Given the description of an element on the screen output the (x, y) to click on. 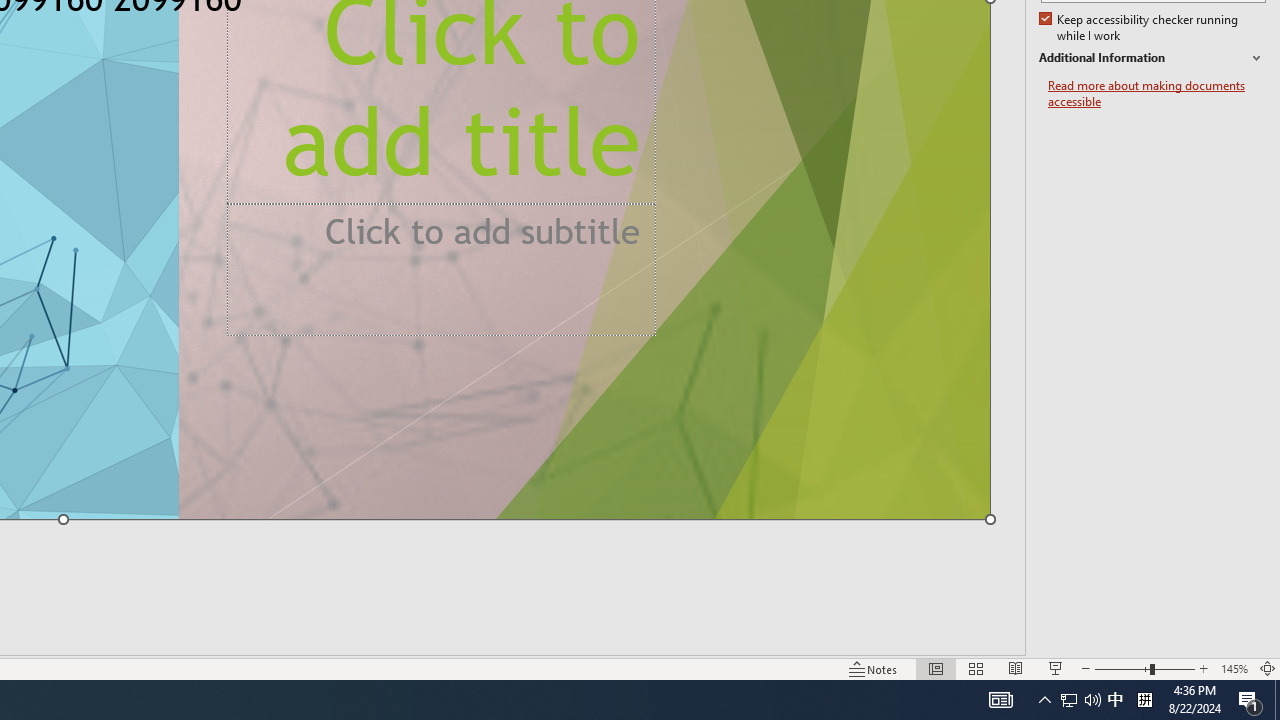
Zoom 145% (1234, 668)
